Given the description of an element on the screen output the (x, y) to click on. 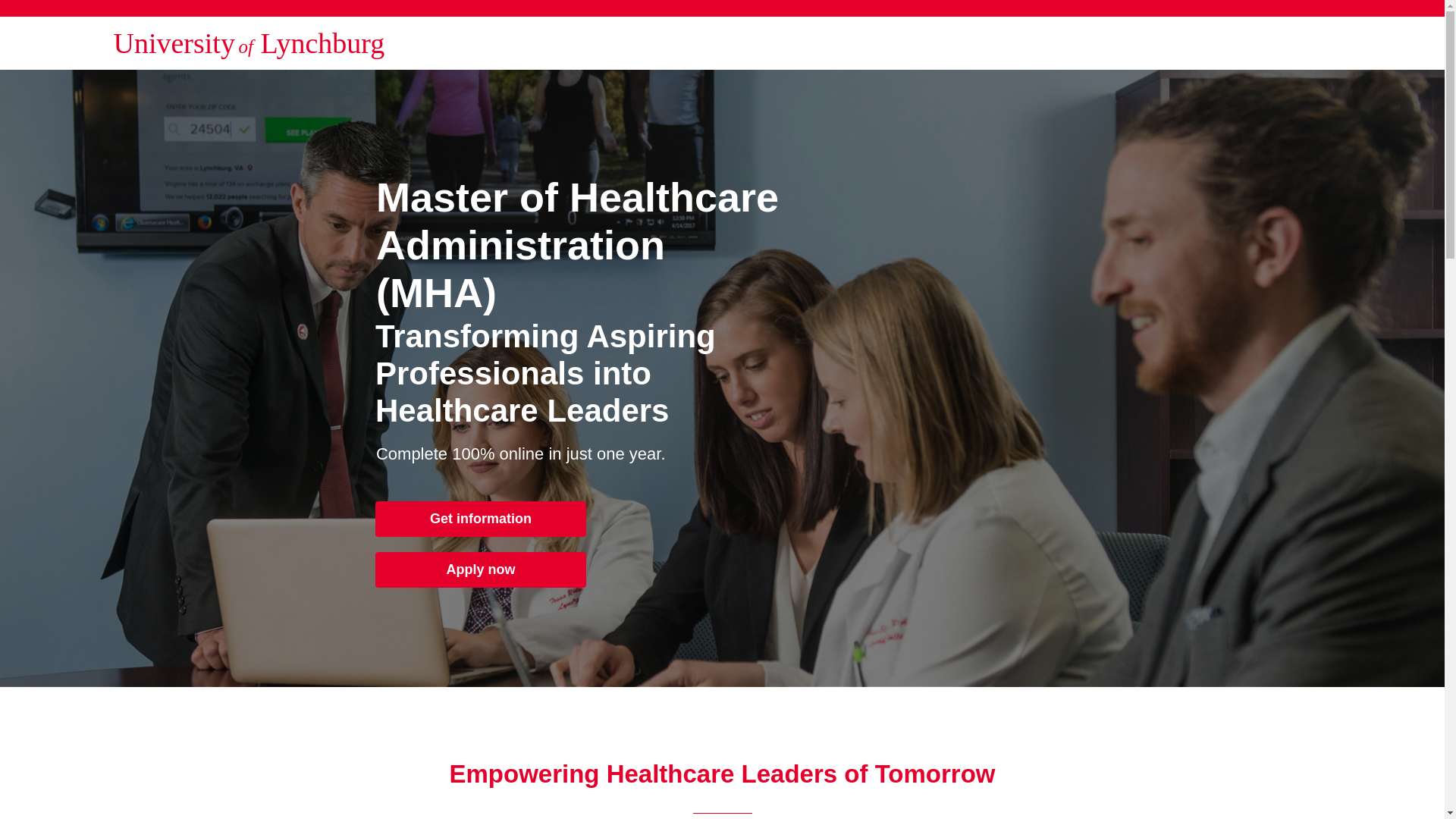
Get information (480, 519)
University of Lynchburg (249, 42)
Get information (480, 519)
Apply now (480, 570)
